Given the description of an element on the screen output the (x, y) to click on. 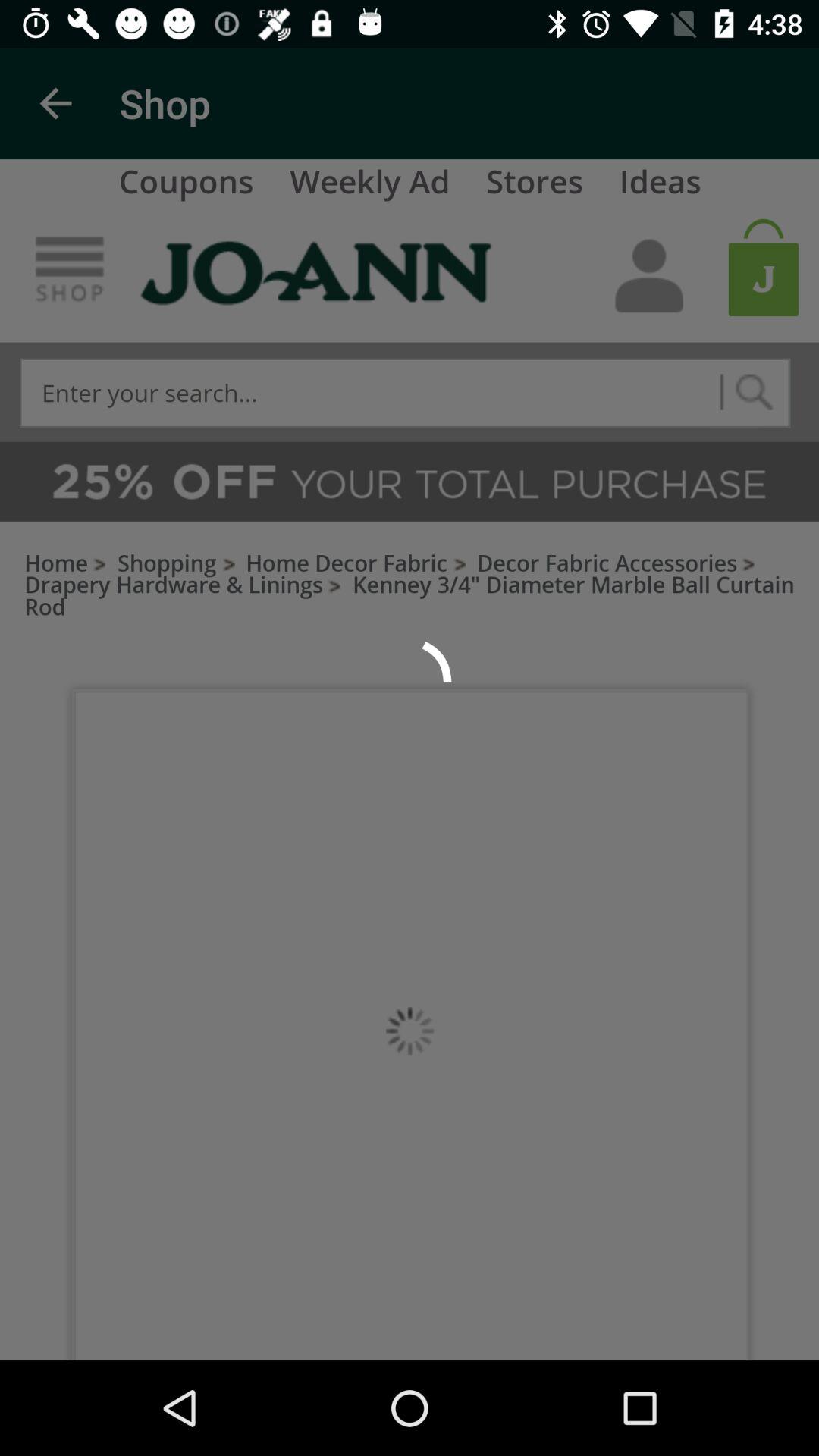
go back (55, 103)
